Given the description of an element on the screen output the (x, y) to click on. 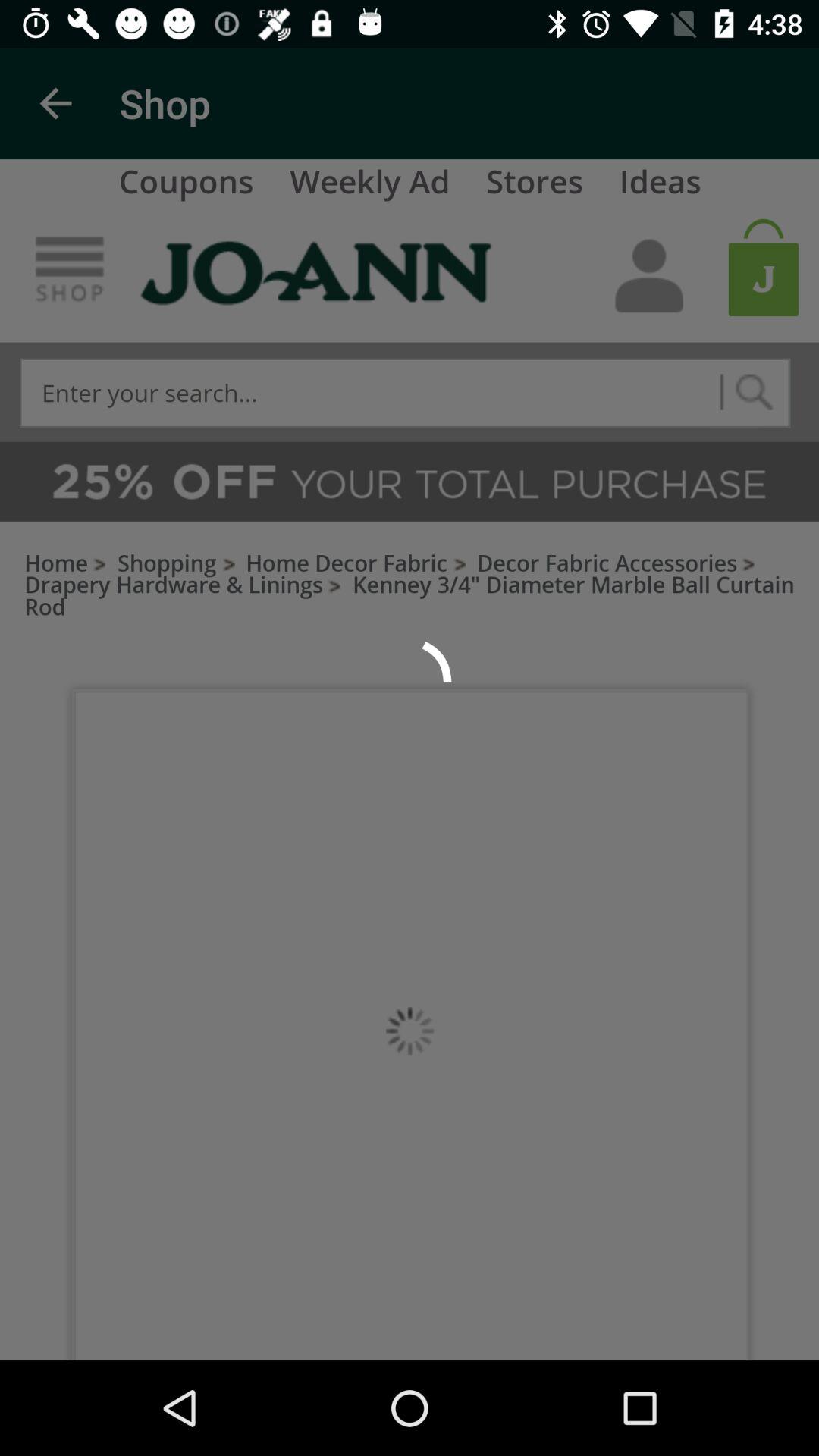
go back (55, 103)
